Given the description of an element on the screen output the (x, y) to click on. 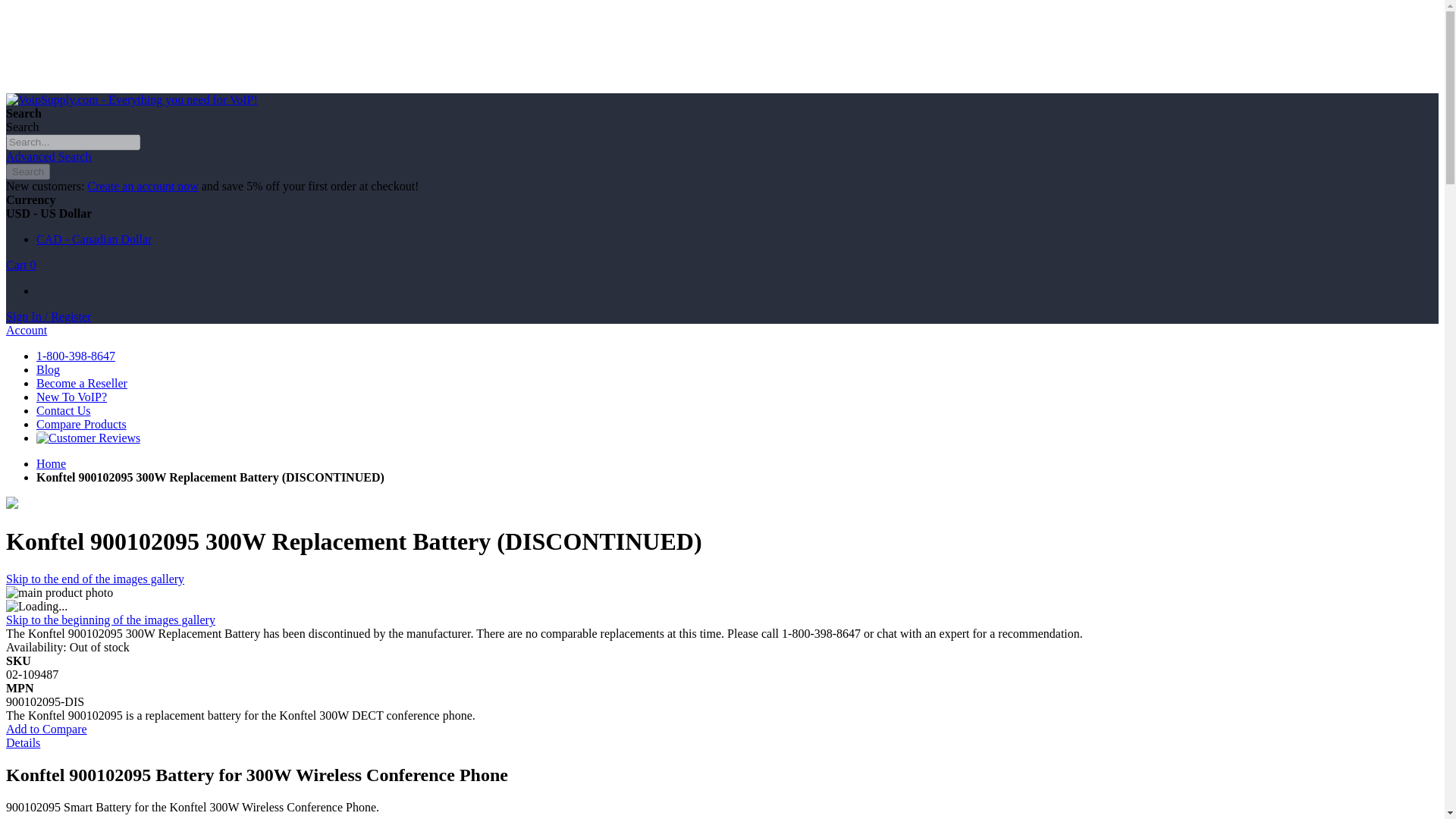
Cart 0 (20, 264)
Compare Products (81, 423)
Add to Compare (46, 728)
Details (22, 742)
Skip to the beginning of the images gallery (110, 619)
Home (50, 463)
Search (27, 171)
Account (25, 329)
Add to Compare (46, 728)
Search (27, 171)
